Given the description of an element on the screen output the (x, y) to click on. 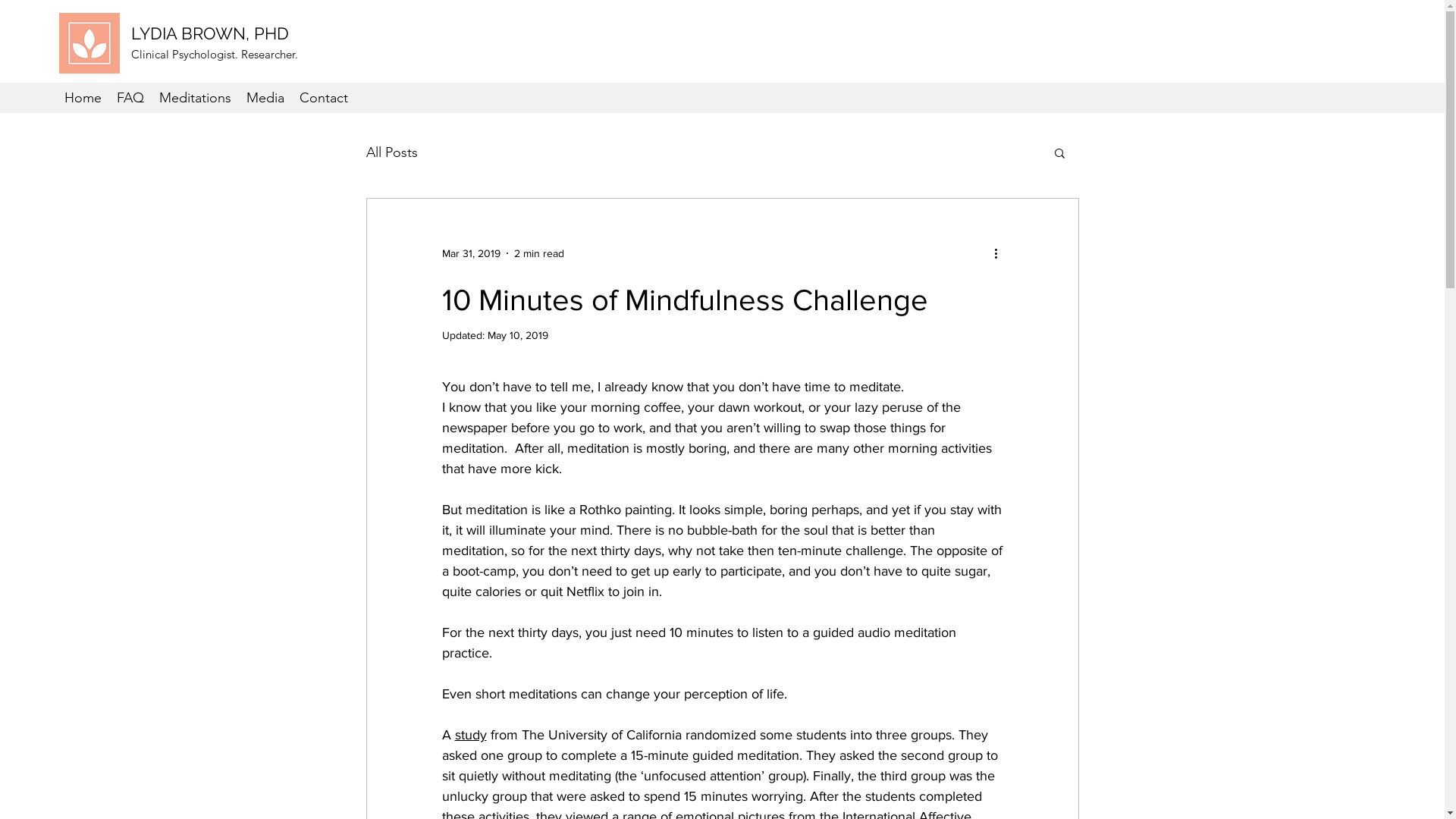
Media Element type: text (264, 97)
FAQ Element type: text (130, 97)
LYDIA BROWN, PHD Element type: text (209, 33)
Home Element type: text (82, 97)
All Posts Element type: text (391, 152)
Contact Element type: text (323, 97)
Meditations Element type: text (194, 97)
